Given the description of an element on the screen output the (x, y) to click on. 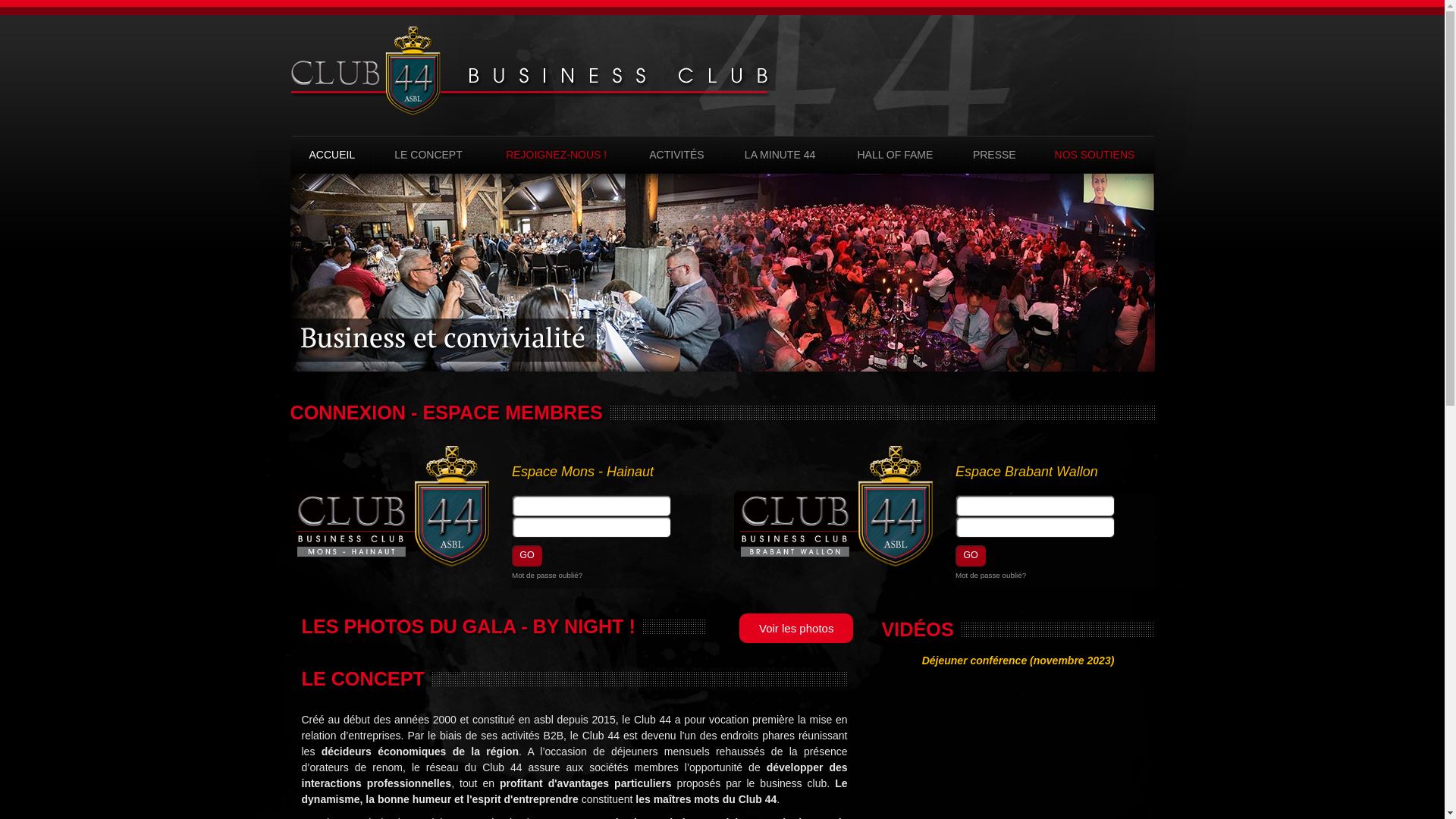
LA MINUTE 44 Element type: text (779, 154)
Club 44 - Mons-Hainaut Element type: hover (389, 505)
HALL OF FAME Element type: text (895, 154)
PRESSE Element type: text (993, 154)
LE CONCEPT Element type: text (428, 154)
Club 44 - Business Club Element type: hover (529, 71)
Voir les photos Element type: text (792, 621)
Club 44 - Business Club Mons Element type: hover (529, 70)
REJOIGNEZ-NOUS ! Element type: text (556, 154)
ACCUEIL Element type: text (332, 154)
Voir les photos Element type: text (796, 628)
GO Element type: text (526, 555)
NOS SOUTIENS Element type: text (1093, 154)
Club 44 - Brabant Wallon Element type: hover (833, 505)
GO Element type: text (970, 555)
